Given the description of an element on the screen output the (x, y) to click on. 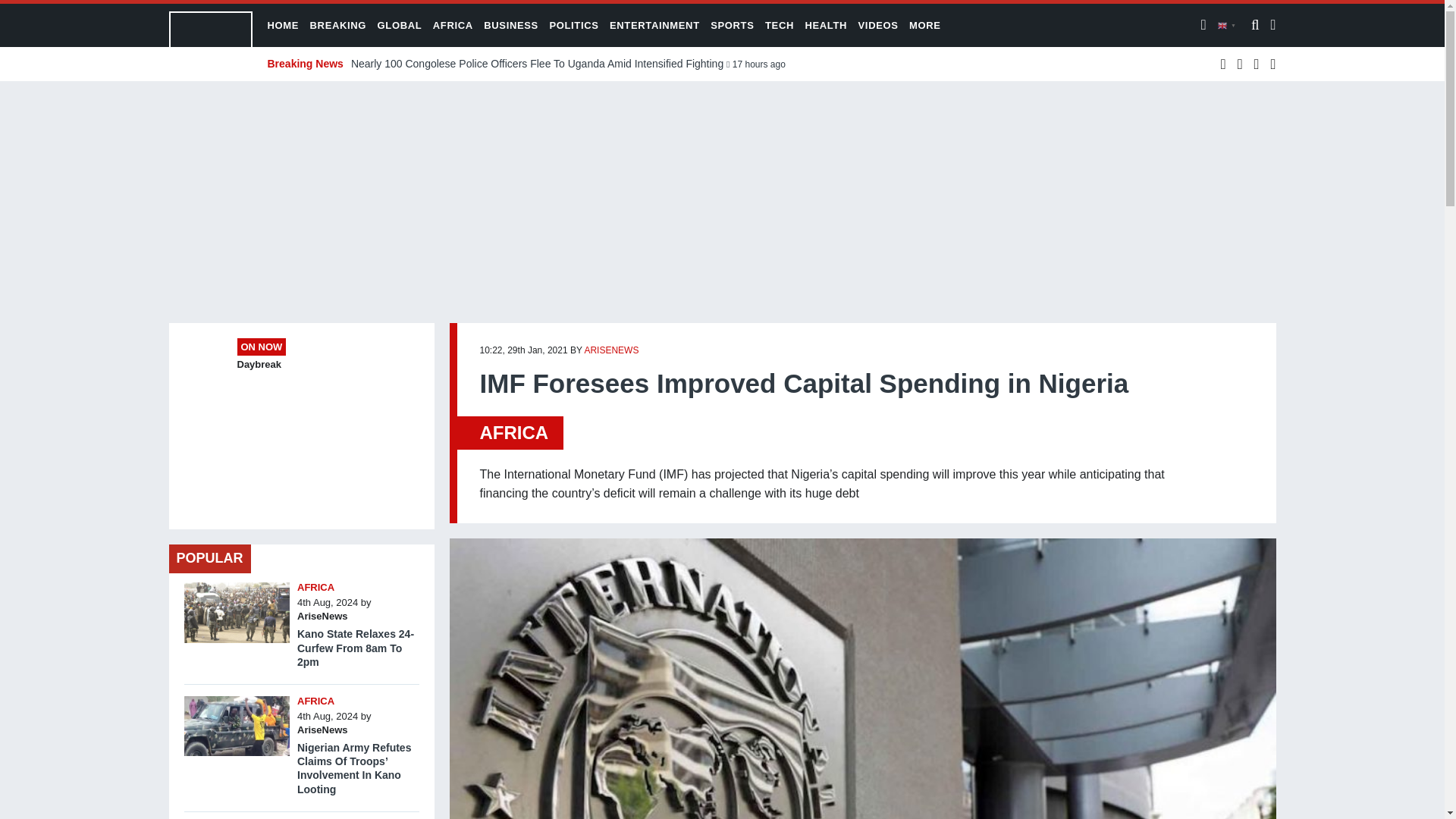
Kano State Relaxes 24-Curfew From 8am to 2pm (236, 585)
AFRICA (315, 700)
AriseNews (322, 729)
AFRICA (315, 586)
Posts by AriseNews (322, 615)
Posts by AriseNews (322, 729)
Kano State Relaxes 24-Curfew From 8am To 2pm (355, 647)
ARISENEWS (611, 349)
AriseNews (322, 615)
AFRICA (513, 431)
Posts by AriseNews (611, 349)
